Given the description of an element on the screen output the (x, y) to click on. 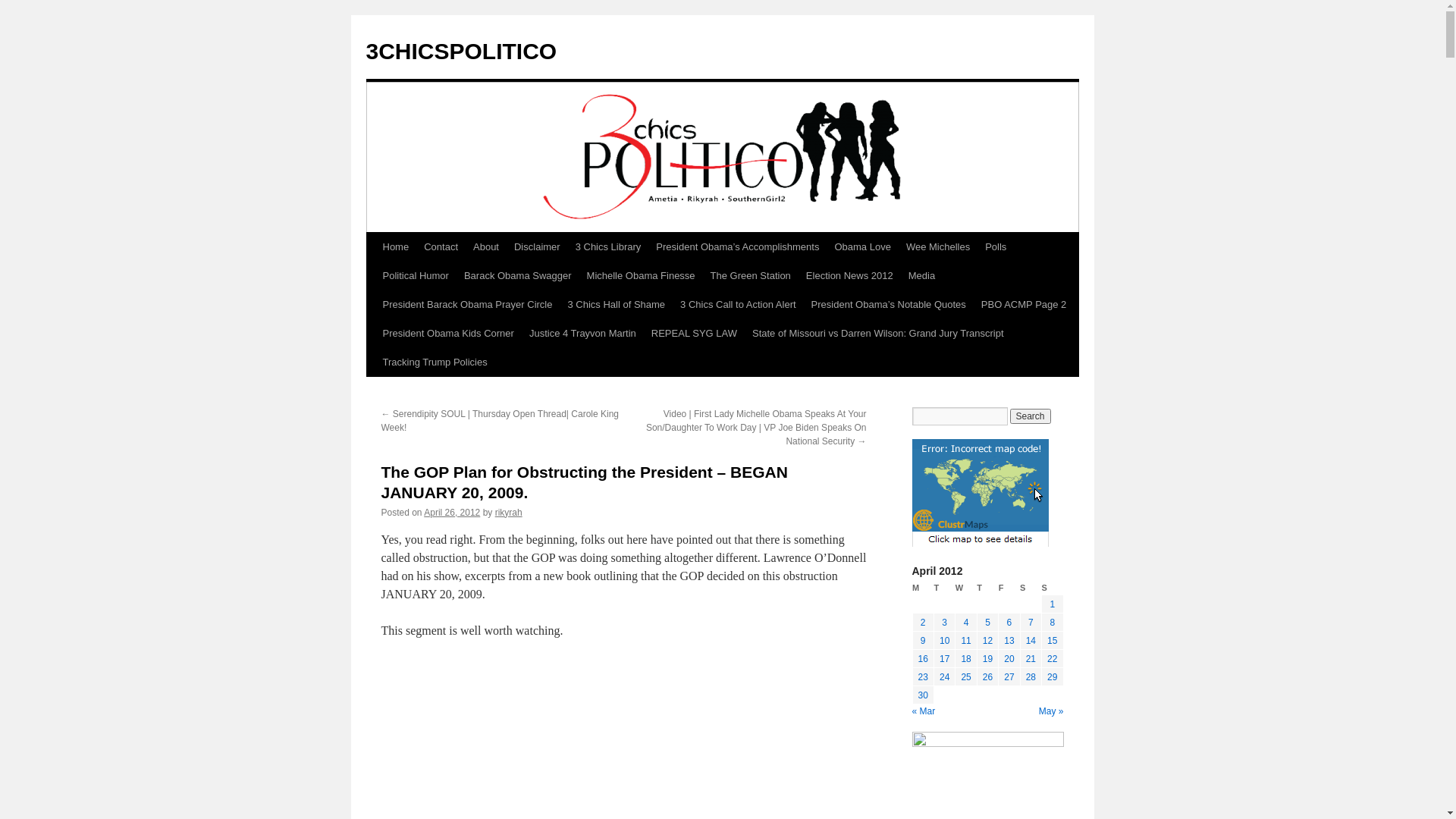
Polls Element type: text (995, 246)
3 Chics Library Element type: text (608, 246)
13 Element type: text (1008, 640)
President Obama Kids Corner Element type: text (447, 333)
7 Element type: text (1030, 622)
3 Element type: text (944, 622)
12 Element type: text (987, 640)
10 Element type: text (944, 640)
President Barack Obama Prayer Circle Element type: text (466, 304)
20 Element type: text (1008, 658)
23 Element type: text (923, 676)
26 Element type: text (987, 676)
Barack Obama Swagger Element type: text (517, 275)
29 Element type: text (1052, 676)
REPEAL SYG LAW Element type: text (693, 333)
18 Element type: text (965, 658)
Disclaimer Element type: text (536, 246)
3 Chics Call to Action Alert Element type: text (737, 304)
Election News 2012 Element type: text (849, 275)
2 Element type: text (922, 622)
15 Element type: text (1052, 640)
6 Element type: text (1009, 622)
1 Element type: text (1051, 604)
Home Element type: text (395, 246)
9 Element type: text (922, 640)
24 Element type: text (944, 676)
8 Element type: text (1051, 622)
3 Chics Hall of Shame Element type: text (615, 304)
The Green Station Element type: text (750, 275)
17 Element type: text (944, 658)
14 Element type: text (1030, 640)
21 Element type: text (1030, 658)
27 Element type: text (1008, 676)
19 Element type: text (987, 658)
Obama Love Element type: text (861, 246)
rikyrah Element type: text (508, 512)
Wee Michelles Element type: text (937, 246)
Visit tracker Element type: hover (979, 543)
Justice 4 Trayvon Martin Element type: text (582, 333)
16 Element type: text (923, 658)
About Element type: text (485, 246)
Michelle Obama Finesse Element type: text (640, 275)
22 Element type: text (1052, 658)
28 Element type: text (1030, 676)
11 Element type: text (965, 640)
Skip to content Element type: text (372, 275)
Search Element type: text (1030, 415)
Tracking Trump Policies Element type: text (434, 362)
Political Humor Element type: text (414, 275)
25 Element type: text (965, 676)
3CHICSPOLITICO Element type: text (460, 50)
30 Element type: text (923, 695)
5 Element type: text (987, 622)
Contact Element type: text (440, 246)
April 26, 2012 Element type: text (451, 512)
Media Element type: text (921, 275)
State of Missouri vs Darren Wilson: Grand Jury Transcript Element type: text (877, 333)
PBO ACMP Page 2 Element type: text (1023, 304)
4 Element type: text (966, 622)
